Given the description of an element on the screen output the (x, y) to click on. 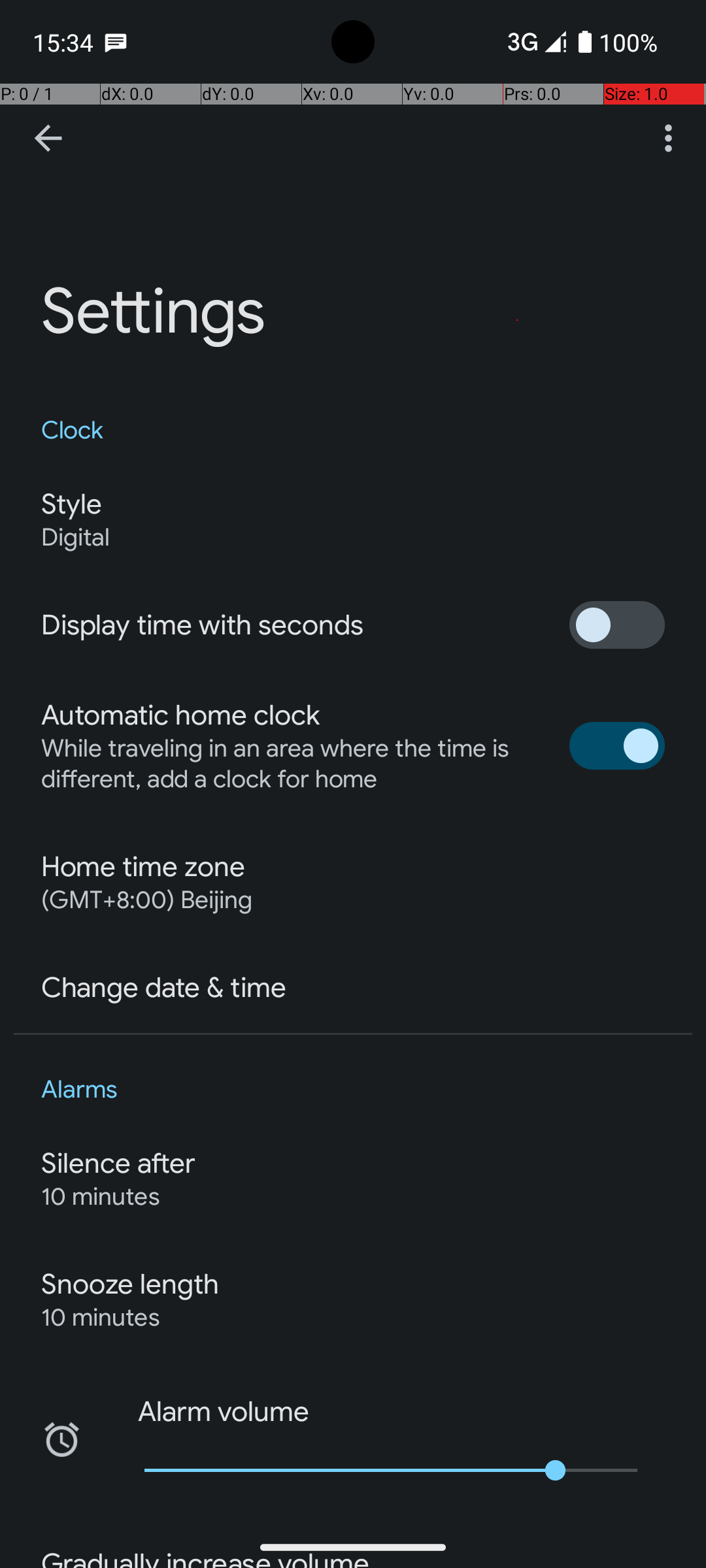
Style Element type: android.widget.TextView (71, 504)
Digital Element type: android.widget.TextView (75, 537)
Display time with seconds Element type: android.widget.TextView (202, 624)
Automatic home clock Element type: android.widget.TextView (180, 715)
While traveling in an area where the time is different, add a clock for home Element type: android.widget.TextView (291, 763)
Home time zone Element type: android.widget.TextView (143, 866)
(GMT+8:00) Beijing Element type: android.widget.TextView (146, 899)
Change date & time Element type: android.widget.TextView (163, 987)
Alarms Element type: android.widget.TextView (352, 1089)
Silence after Element type: android.widget.TextView (118, 1163)
10 minutes Element type: android.widget.TextView (100, 1196)
Snooze length Element type: android.widget.TextView (129, 1284)
Alarm volume Element type: android.widget.TextView (213, 1411)
Gradually increase volume Element type: android.widget.TextView (205, 1557)
